Given the description of an element on the screen output the (x, y) to click on. 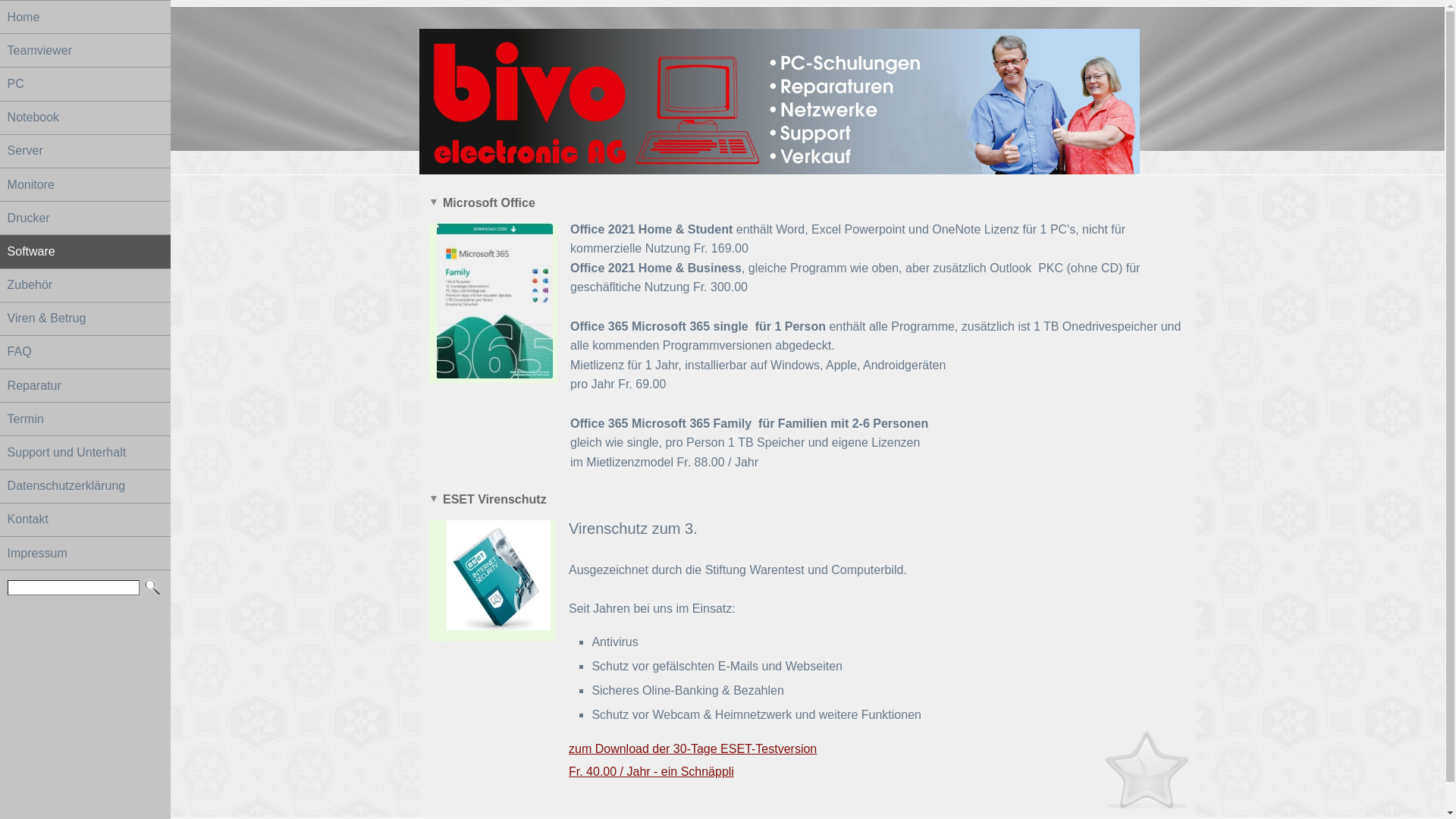
Impressum Element type: text (85, 552)
Klicken Sie hier um TeamViewer herunterzuladen Element type: hover (779, 90)
Teamviewer Element type: text (85, 50)
Drucker Element type: text (85, 217)
Notebook Element type: text (85, 117)
Support und Unterhalt Element type: text (85, 452)
Monitore Element type: text (85, 184)
Home Element type: text (85, 16)
office365.png Element type: hover (493, 302)
Server Element type: text (85, 150)
ESET IS Element type: hover (492, 580)
FAQ Element type: text (85, 351)
Kontakt Element type: text (85, 519)
PC Element type: text (85, 83)
Software Element type: text (85, 251)
Reparatur Element type: text (85, 385)
Termin Element type: text (85, 418)
Viren & Betrug Element type: text (85, 318)
zum Download der 30-Tage ESET-Testversion Element type: text (692, 748)
